Given the description of an element on the screen output the (x, y) to click on. 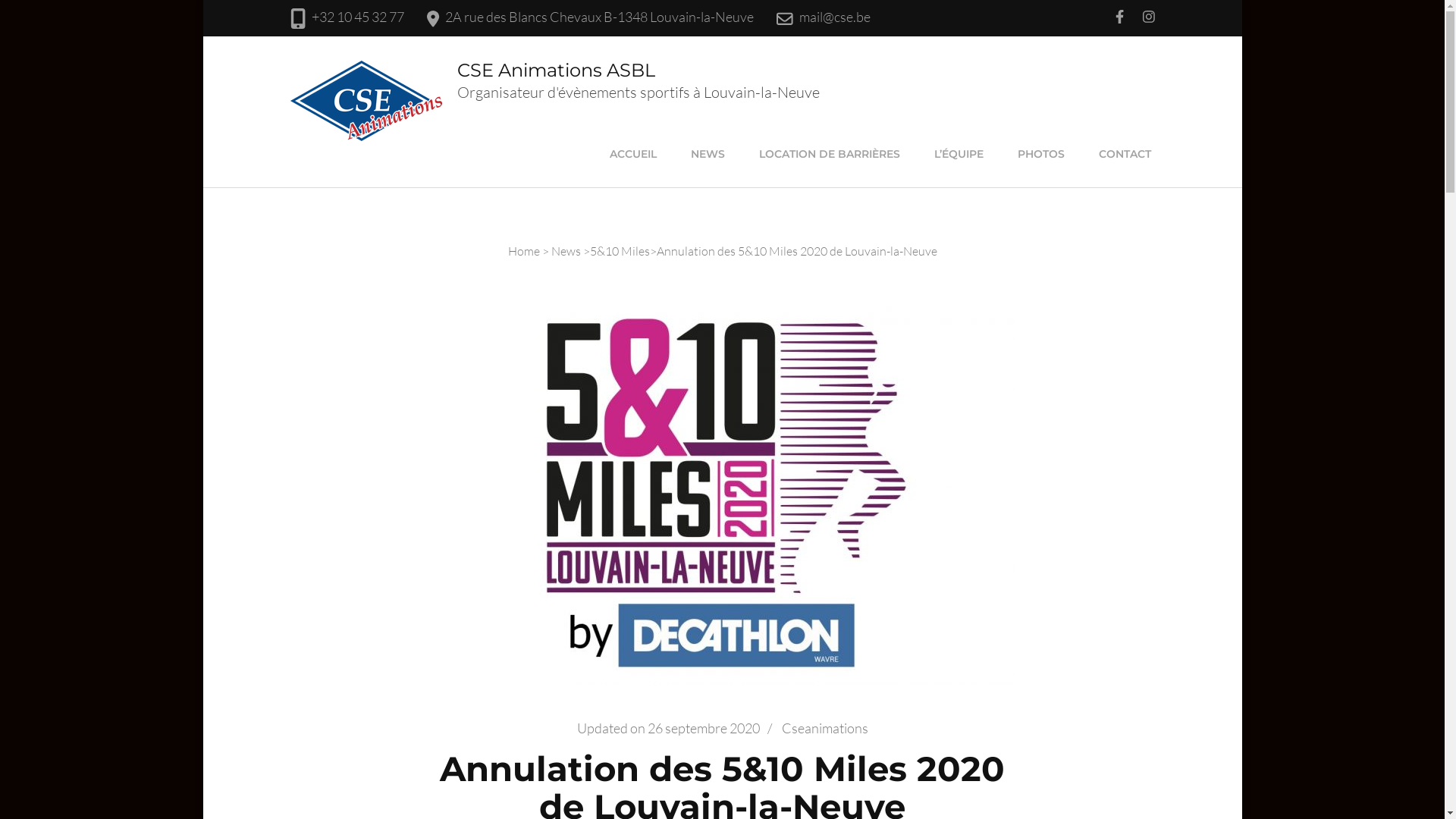
Home Element type: text (523, 250)
26 septembre 2020 Element type: text (703, 727)
ACCUEIL Element type: text (632, 153)
+32 10 45 32 77 Element type: text (357, 16)
Cseanimations Element type: text (824, 727)
News Element type: text (565, 250)
PHOTOS Element type: text (1040, 153)
mail@cse.be Element type: text (834, 16)
NEWS Element type: text (707, 153)
CSE Animations ASBL Element type: text (555, 70)
5&10 Miles Element type: text (619, 250)
CONTACT Element type: text (1124, 153)
